Given the description of an element on the screen output the (x, y) to click on. 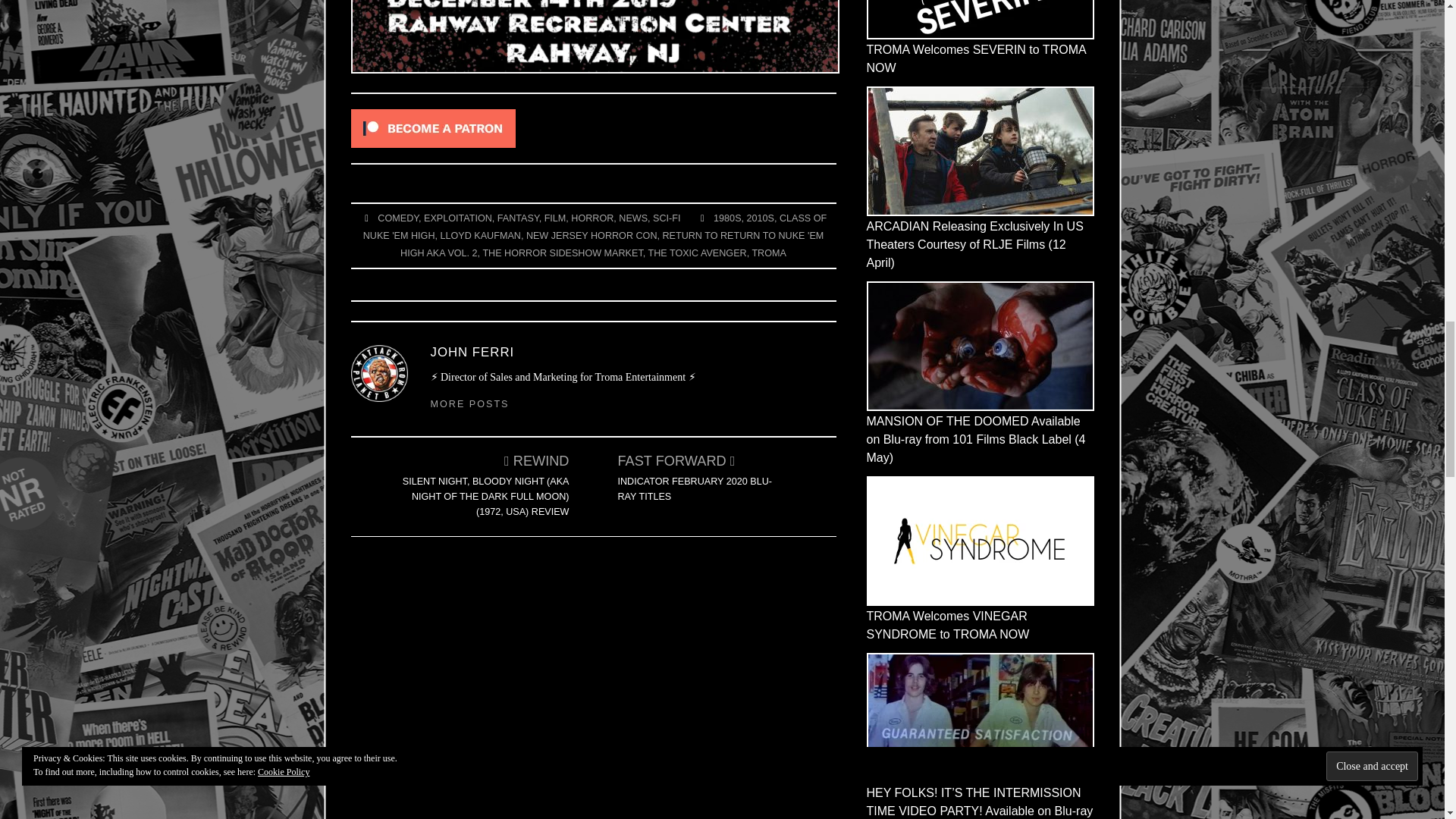
2010S (760, 217)
RETURN TO RETURN TO NUKE 'EM HIGH AKA VOL. 2 (612, 244)
COMEDY (398, 217)
THE TOXIC AVENGER (696, 253)
THE HORROR SIDESHOW MARKET (561, 253)
LLOYD KAUFMAN (479, 235)
FANTASY (517, 217)
MORE POSTS (469, 403)
NEW JERSEY HORROR CON (591, 235)
TROMA (768, 253)
